Given the description of an element on the screen output the (x, y) to click on. 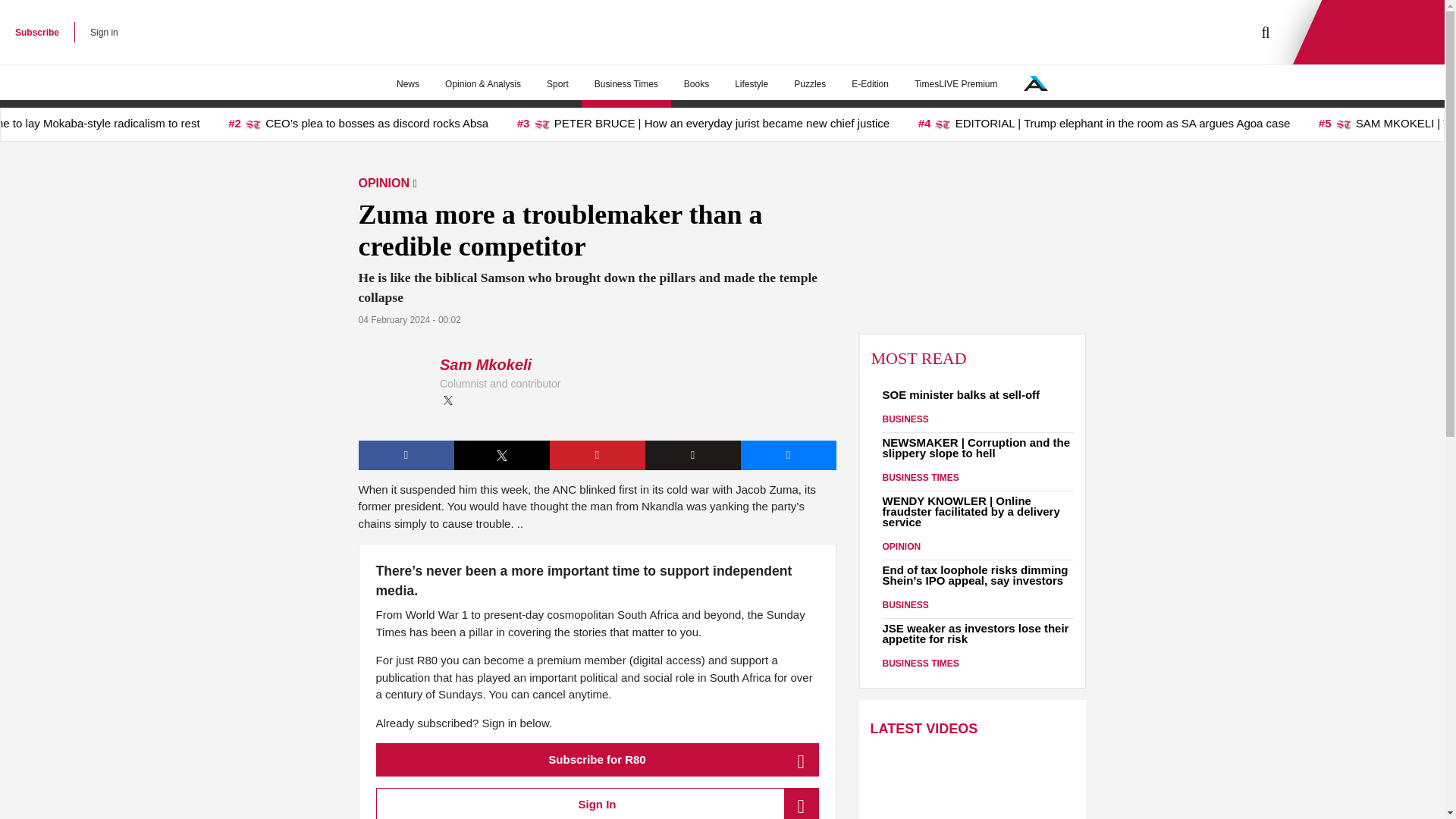
Sign in (103, 32)
TimesLIVE Premium (955, 84)
E-Edition (869, 84)
Lifestyle (751, 84)
News (408, 84)
Puzzles (809, 84)
Our Network (1035, 83)
Business Times (625, 84)
Subscribe (36, 32)
Books (696, 84)
Sport (557, 84)
